Given the description of an element on the screen output the (x, y) to click on. 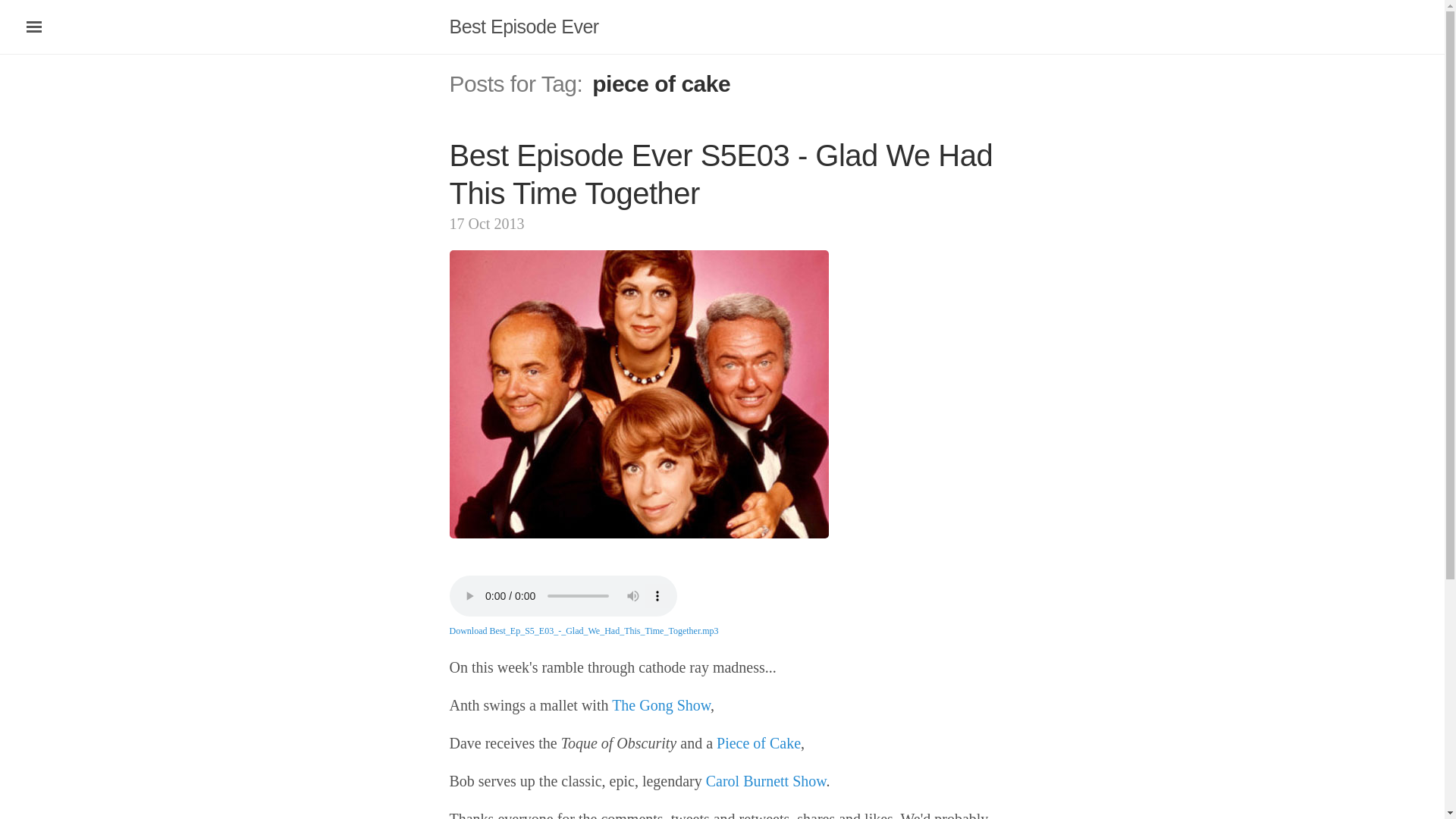
Best Episode Ever S5E03 - Glad We Had This Time Together (720, 173)
The Gong Show (660, 704)
Best Episode Ever (523, 25)
Home (523, 25)
Piece of Cake (758, 742)
Carol Burnett Show (766, 781)
